Given the description of an element on the screen output the (x, y) to click on. 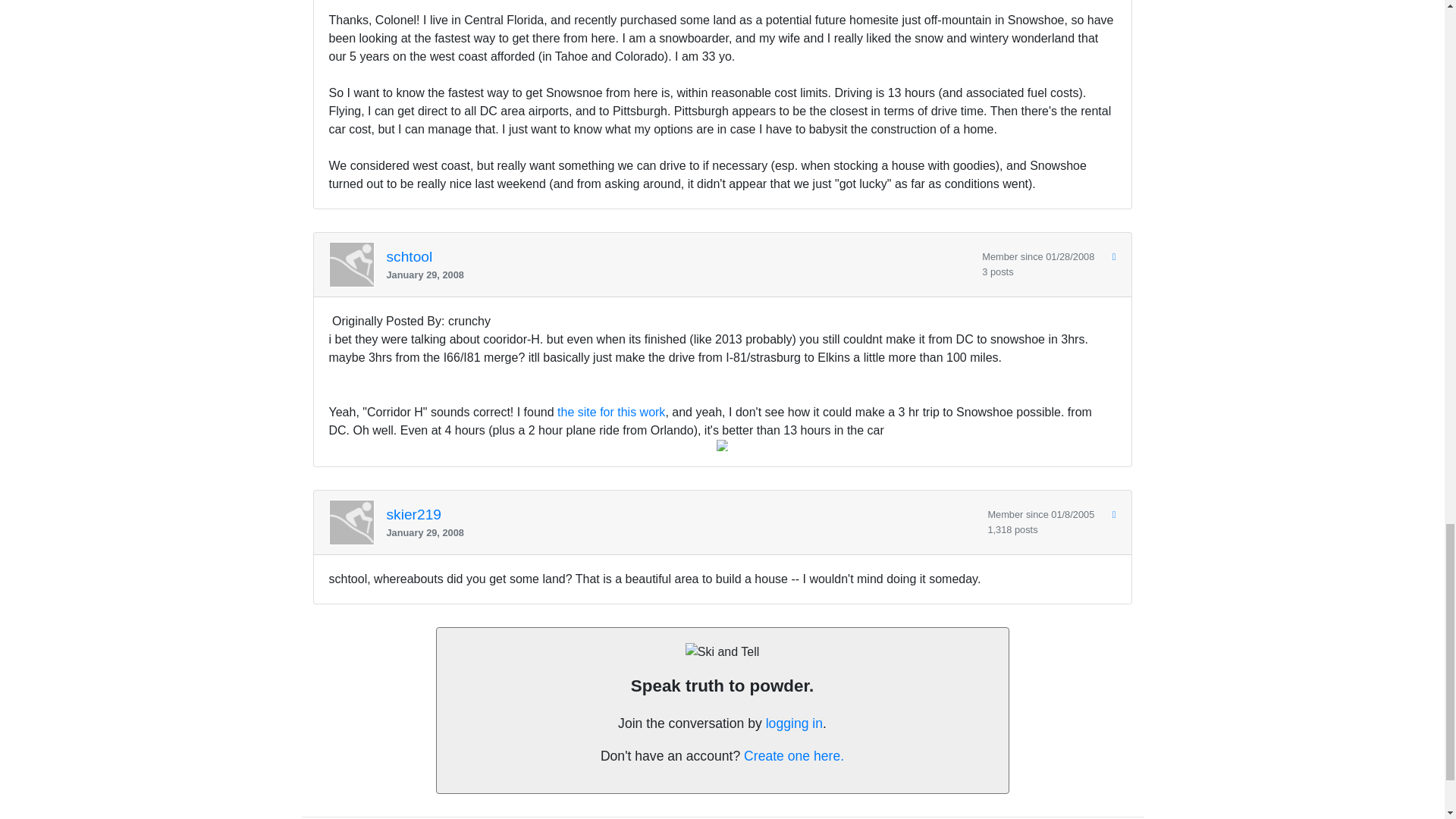
smile (722, 445)
January 29, 2008 at 08:55 pm (681, 532)
January 29, 2008 at 08:27 pm (679, 274)
